Given the description of an element on the screen output the (x, y) to click on. 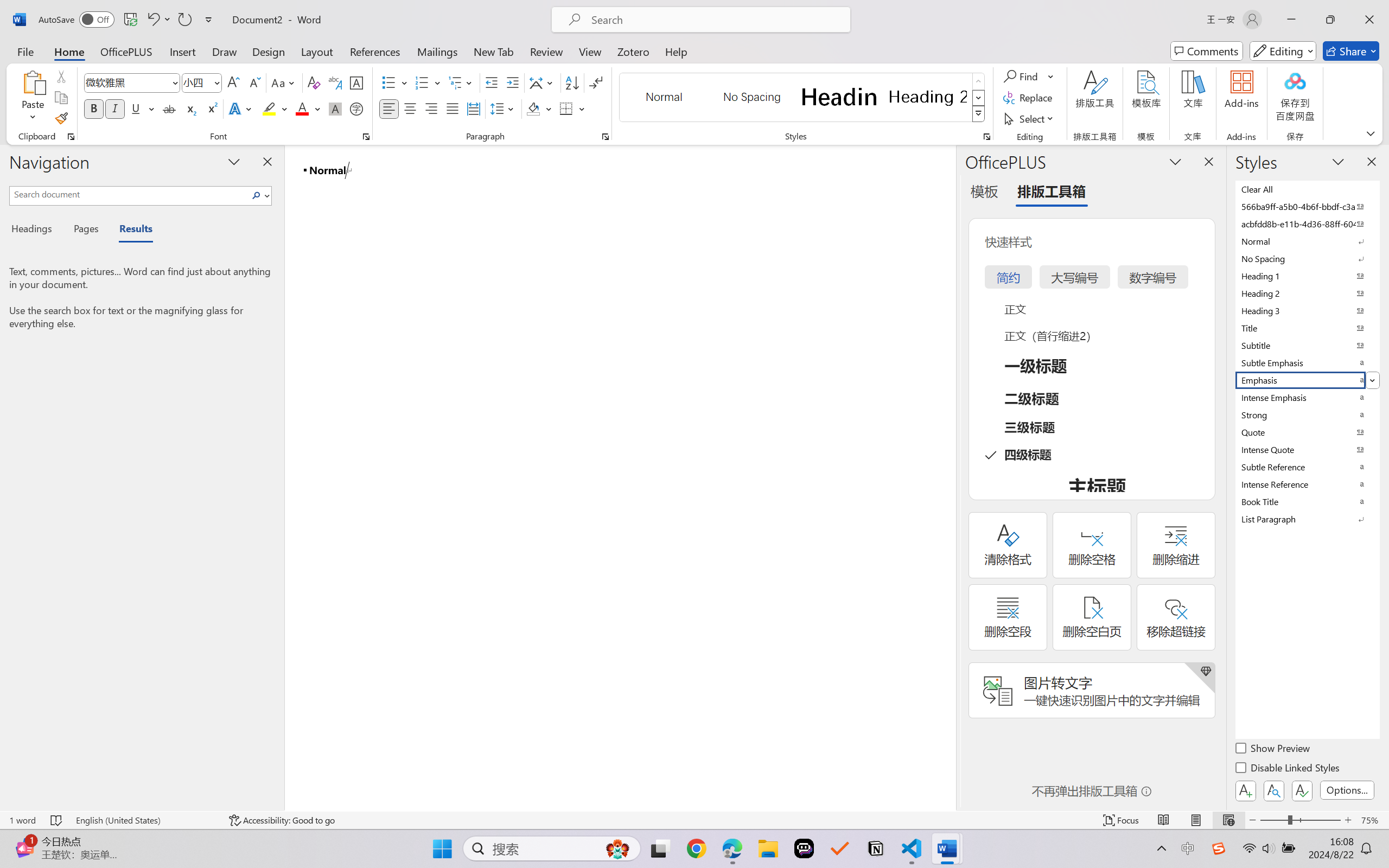
Shading (539, 108)
Strikethrough (169, 108)
Open (215, 82)
AutoSave (76, 19)
Intense Quote (1306, 449)
Zoom Out (1273, 819)
Accessibility Checker Accessibility: Good to go (282, 819)
Phonetic Guide... (334, 82)
Font Size (201, 82)
